Given the description of an element on the screen output the (x, y) to click on. 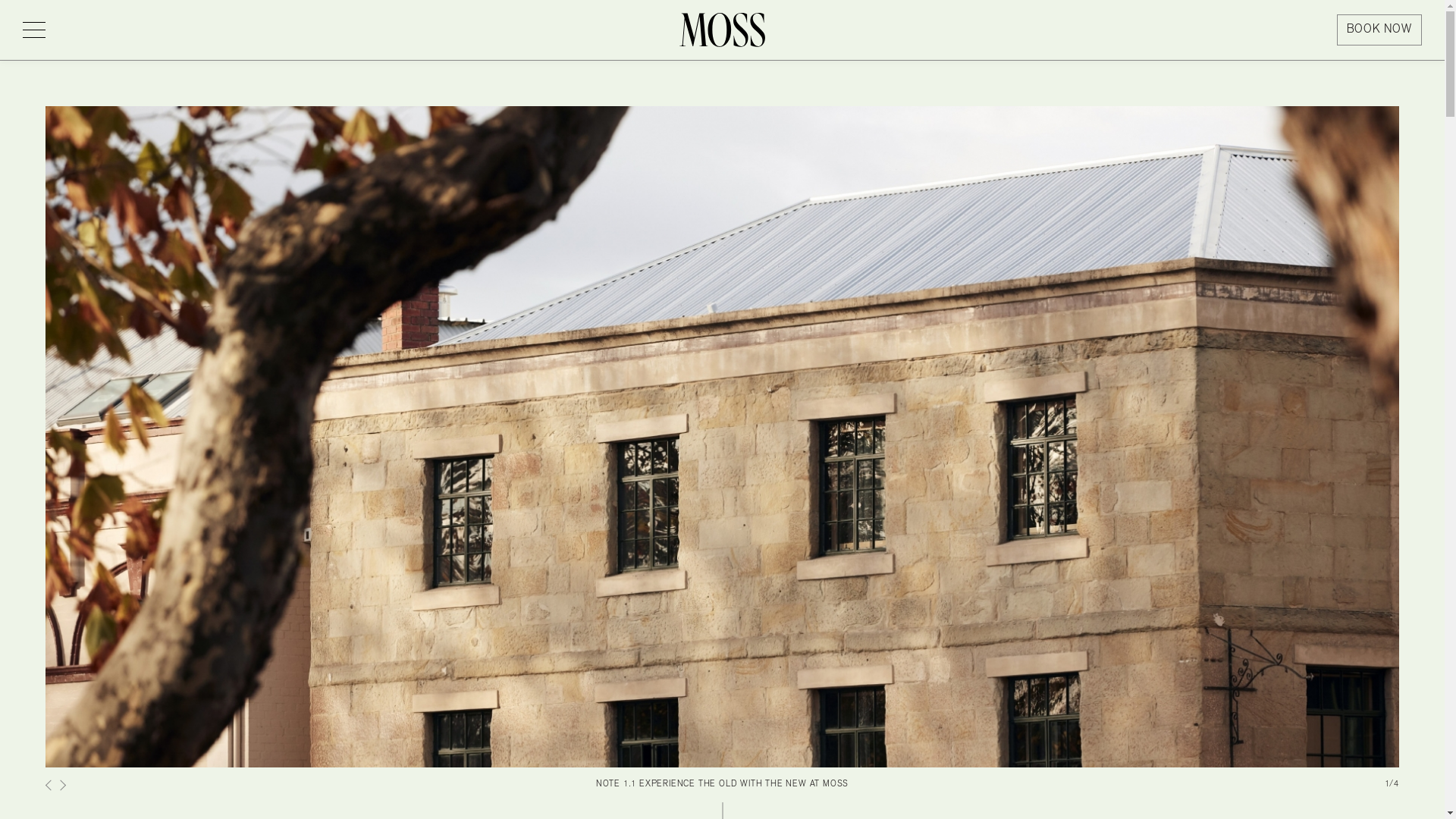
Previous Element type: text (68, 441)
Next Element type: text (1376, 441)
LOST & FOUND Element type: text (634, 21)
CONTACT US Element type: text (872, 21)
Previous Element type: text (49, 785)
STAY Element type: text (549, 21)
Next Element type: text (60, 785)
COLLABORATIONS Element type: text (757, 21)
BOOK NOW Element type: text (1378, 29)
